Given the description of an element on the screen output the (x, y) to click on. 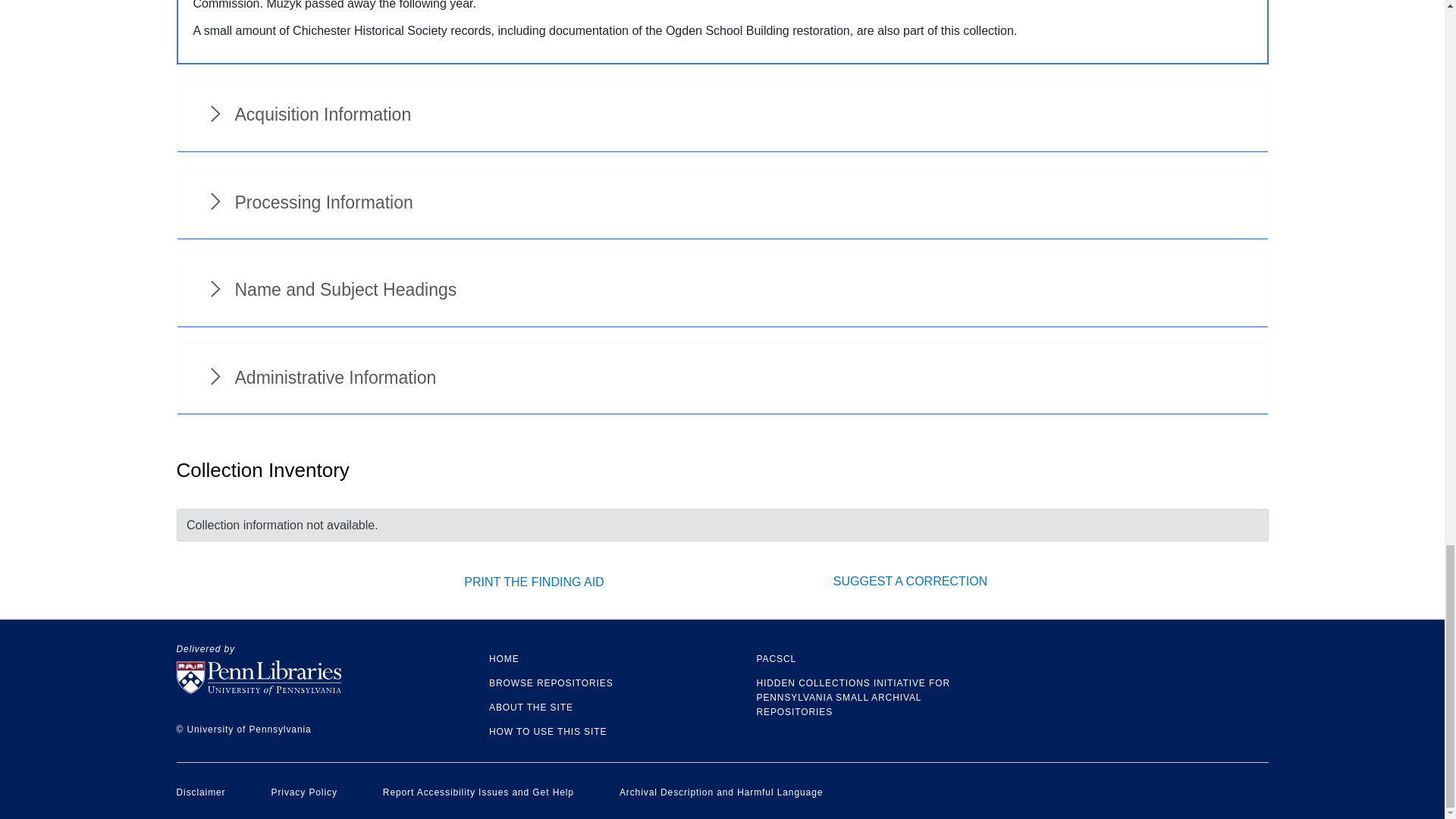
Archival Description and Harmful Language (721, 792)
PACSCL (776, 658)
Name and Subject Headings (722, 290)
BROWSE REPOSITORIES (550, 683)
Disclaimer (200, 792)
ABOUT THE SITE (531, 706)
HOW TO USE THIS SITE (548, 731)
SUGGEST A CORRECTION (909, 581)
Processing Information (722, 203)
PRINT THE FINDING AID (534, 581)
Administrative Information (722, 379)
Report Accessibility Issues and Get Help (477, 792)
Privacy Policy (303, 792)
Acquisition Information (722, 115)
HOME (504, 658)
